Given the description of an element on the screen output the (x, y) to click on. 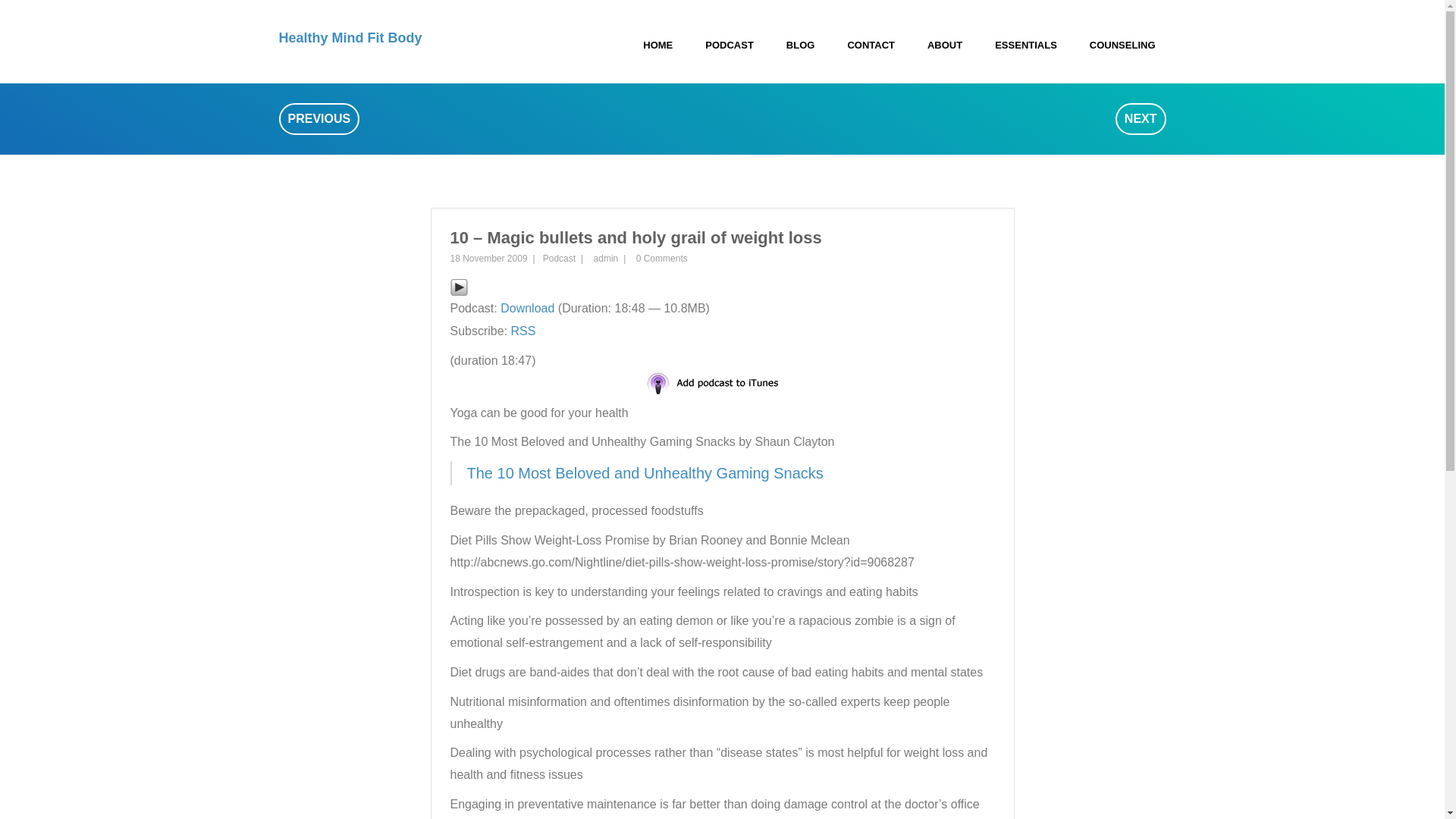
18 November 2009 (488, 258)
RSS (523, 330)
CONTACT (870, 45)
ESSENTIALS (1025, 45)
The 10 Most Beloved and Unhealthy Gaming Snacks (645, 473)
Download (527, 308)
ABOUT (944, 45)
COUNSELING (1122, 45)
BLOG (800, 45)
NEXT (1140, 119)
Play (458, 286)
0 Comments (661, 258)
Subscribe via RSS (523, 330)
PODCAST (729, 45)
Podcast (559, 258)
